Given the description of an element on the screen output the (x, y) to click on. 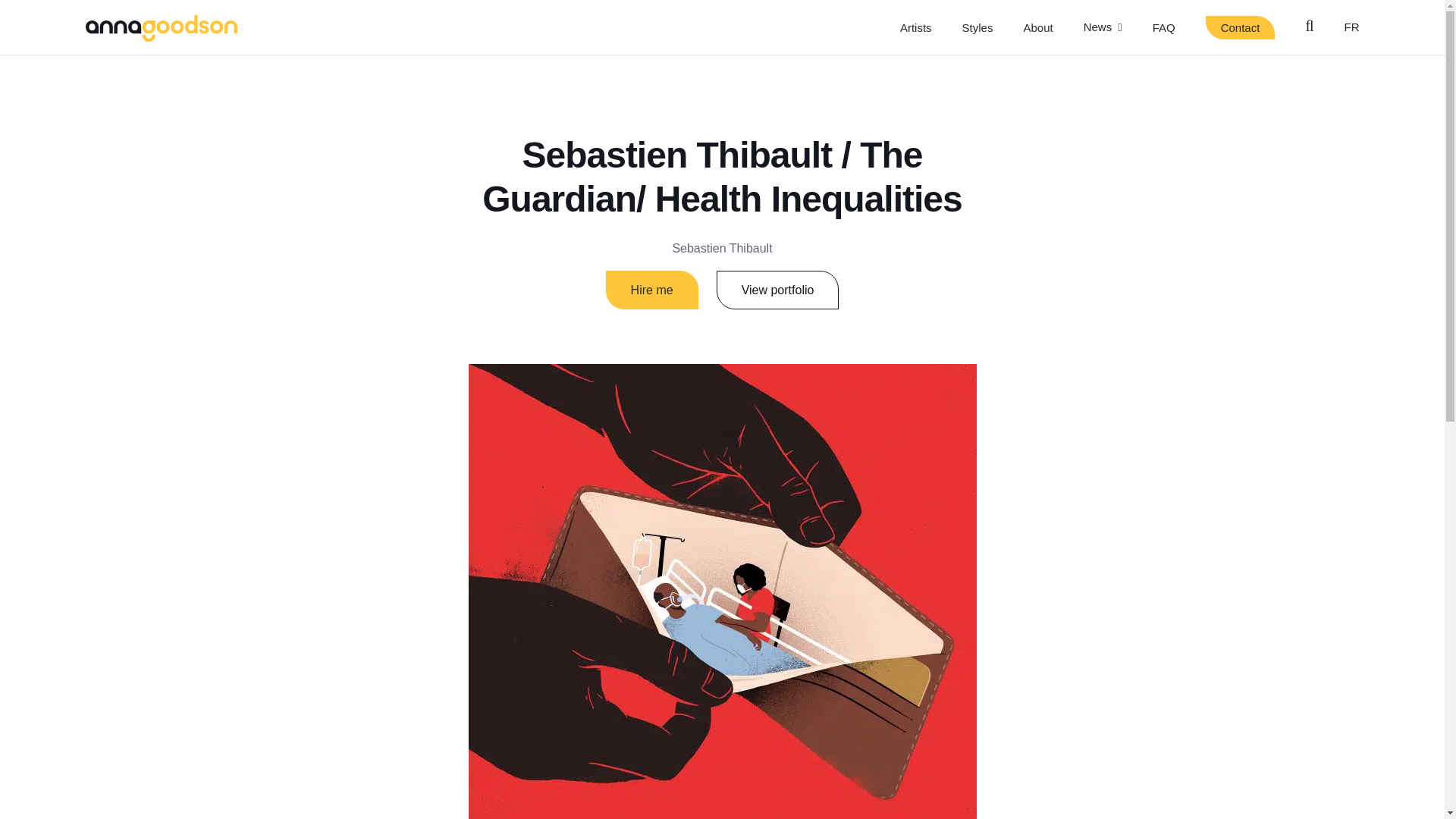
News (1102, 26)
FR (1350, 26)
About (1037, 27)
FAQ (1163, 27)
Hire me (651, 290)
View portfolio (778, 290)
Contact (1240, 26)
Artists (915, 27)
Styles (977, 27)
